Given the description of an element on the screen output the (x, y) to click on. 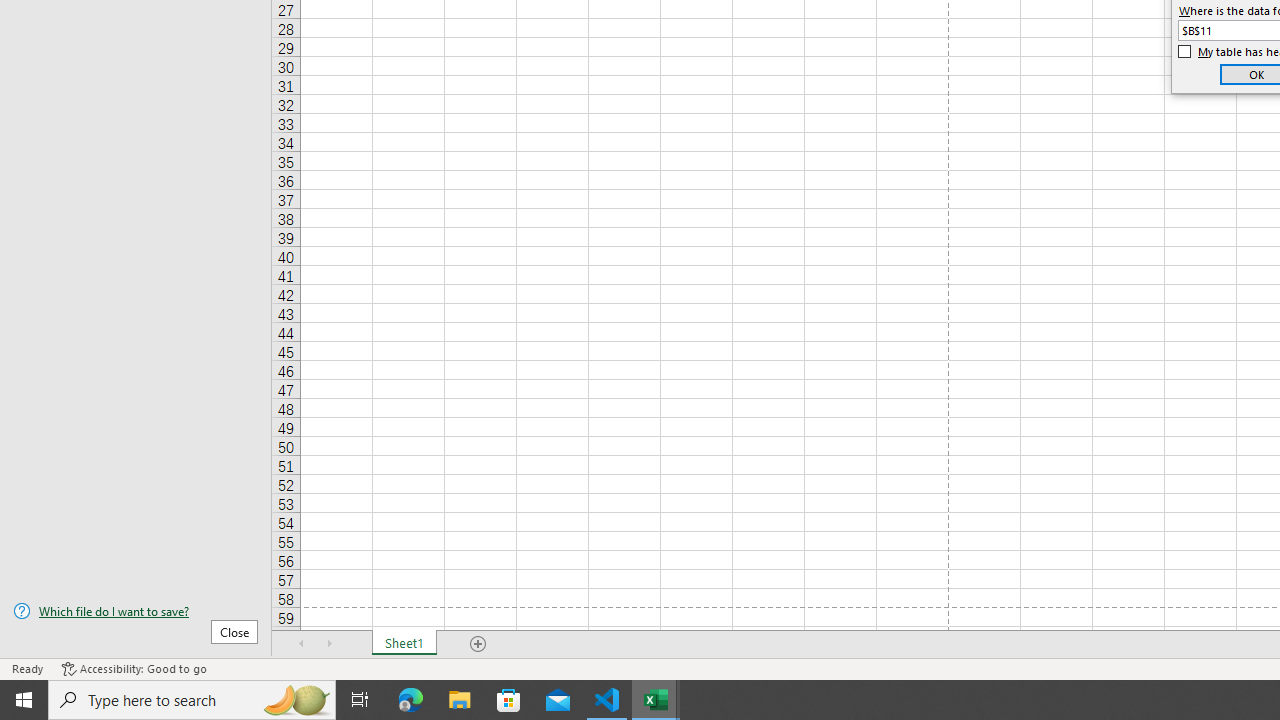
Add Sheet (478, 644)
Accessibility Checker Accessibility: Good to go (134, 668)
Close (234, 631)
Which file do I want to save? (136, 611)
Scroll Right (330, 644)
Scroll Left (302, 644)
Sheet1 (404, 644)
